Given the description of an element on the screen output the (x, y) to click on. 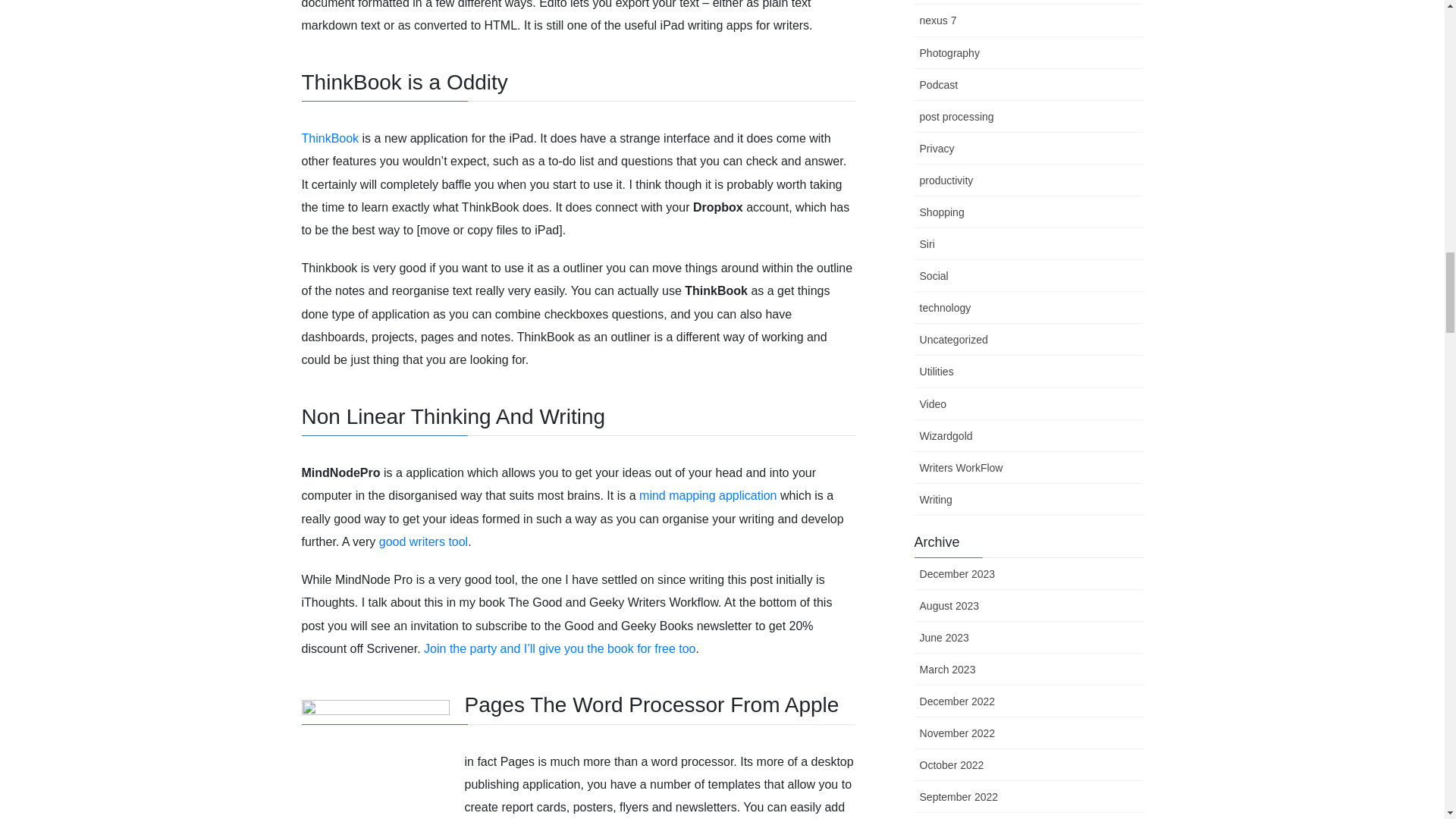
mind mapping application (707, 495)
Here is a weird one for you and it is called ThinkBook (330, 137)
ThinkBook (330, 137)
good writers tool (422, 541)
Get the Good and Geeky Writers Workflow Book for Free (559, 648)
Winner of the MindNode Touch for the iPad (707, 495)
